Given the description of an element on the screen output the (x, y) to click on. 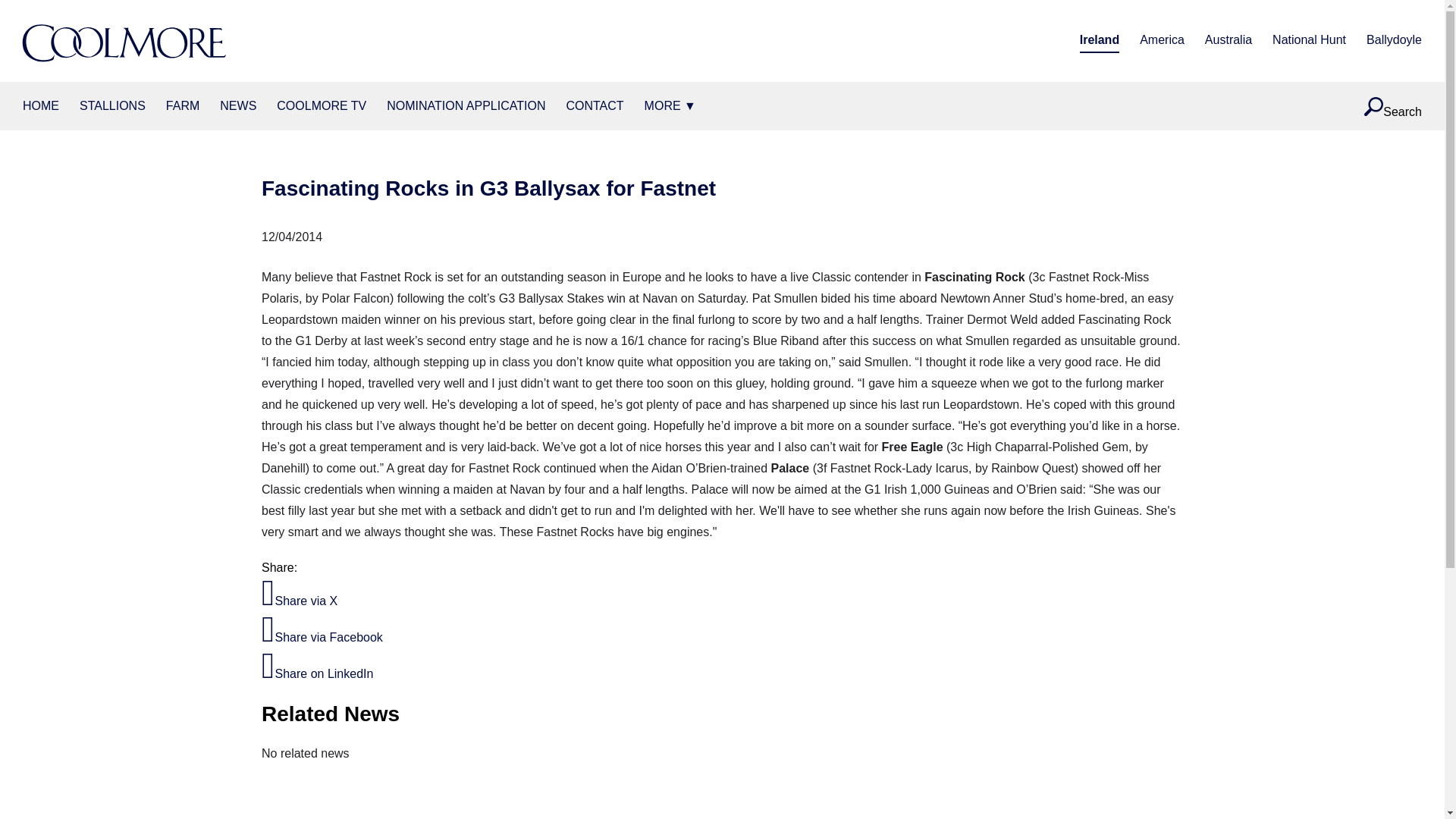
Nomination Application (465, 106)
Coolmore TV (321, 106)
Contact (594, 106)
STALLIONS (112, 106)
News (237, 106)
NOMINATION APPLICATION (465, 106)
Ballydoyle (1394, 40)
National Hunt (1308, 40)
NEWS (237, 106)
Farm (182, 106)
